Given the description of an element on the screen output the (x, y) to click on. 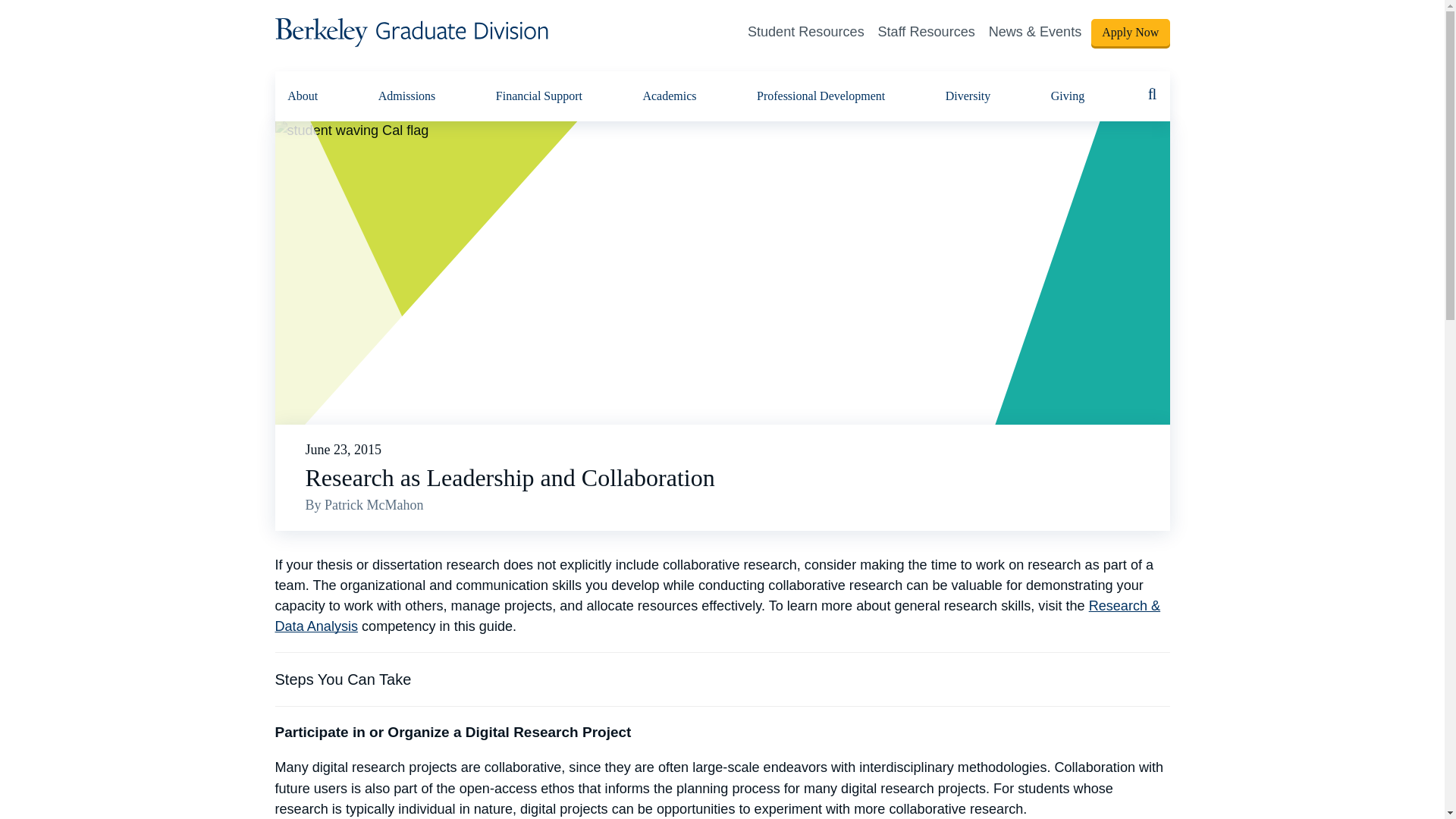
Staff Resources (926, 32)
Student Resources (806, 32)
Apply Now (1129, 31)
Financial Support (538, 95)
About (302, 95)
Admissions (407, 95)
